Given the description of an element on the screen output the (x, y) to click on. 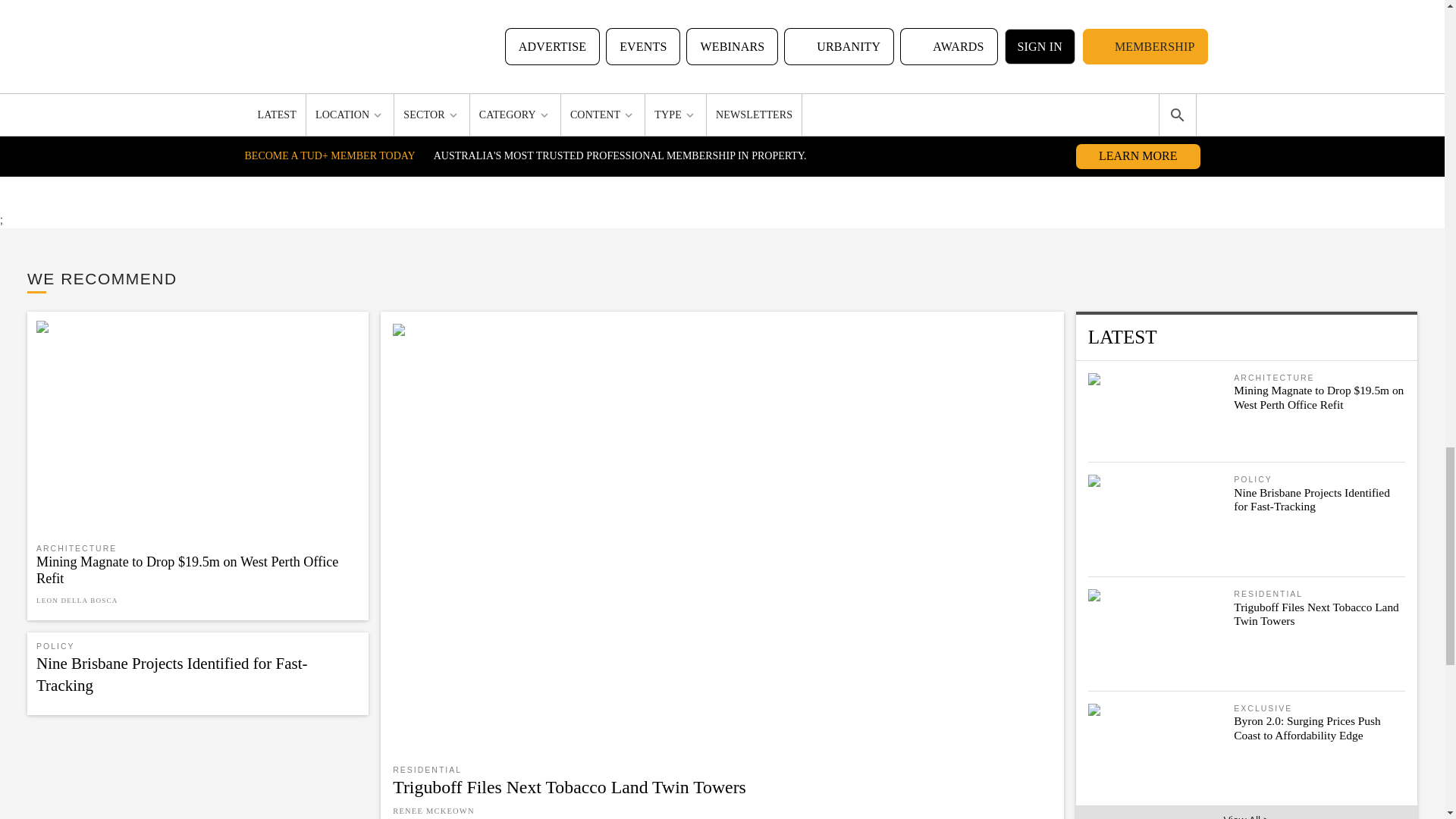
Australia (519, 5)
Other (753, 5)
Construction (597, 5)
Other (460, 5)
More articles by this author (659, 131)
Construction (685, 5)
